Given the description of an element on the screen output the (x, y) to click on. 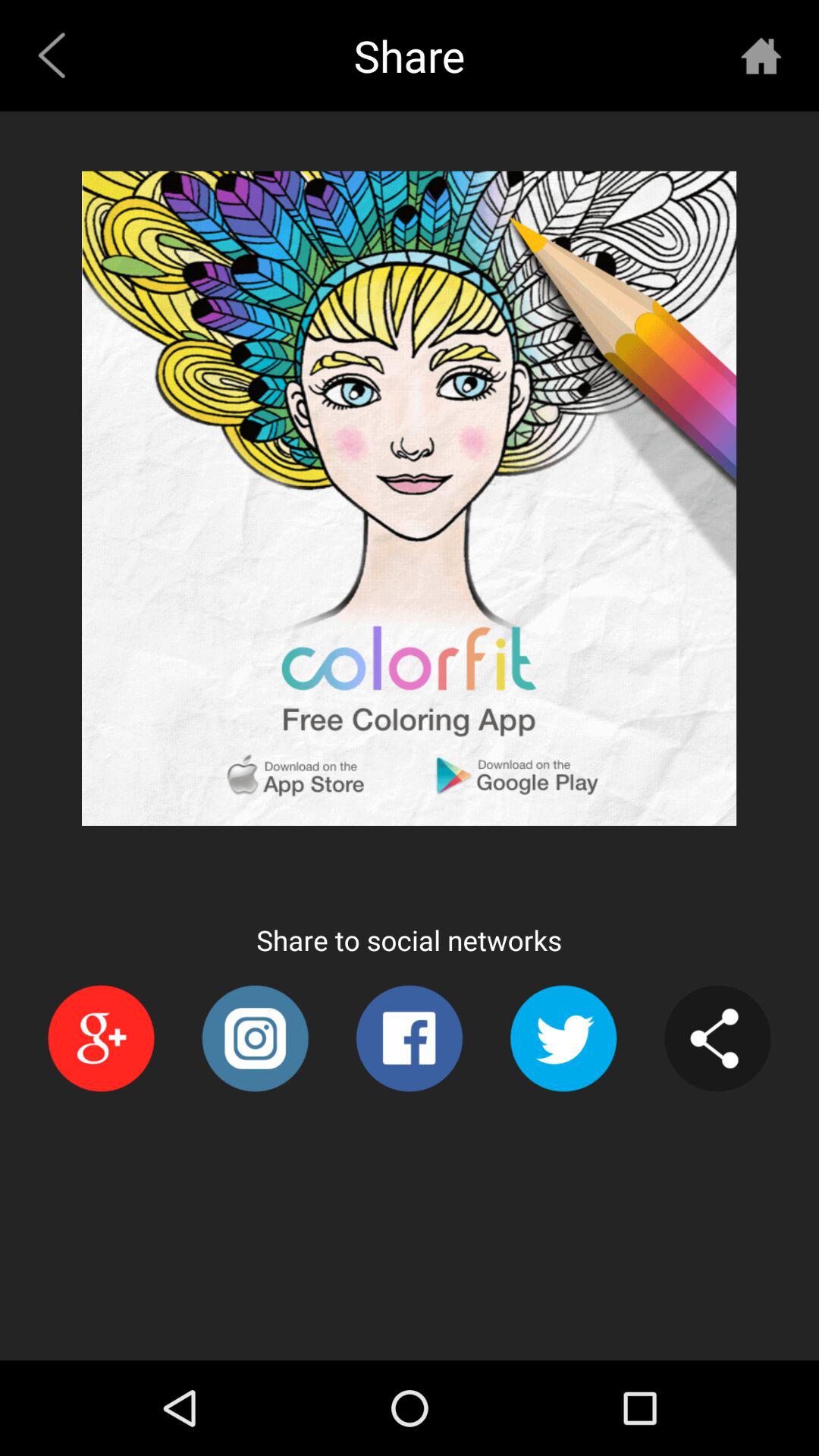
go back (761, 55)
